Given the description of an element on the screen output the (x, y) to click on. 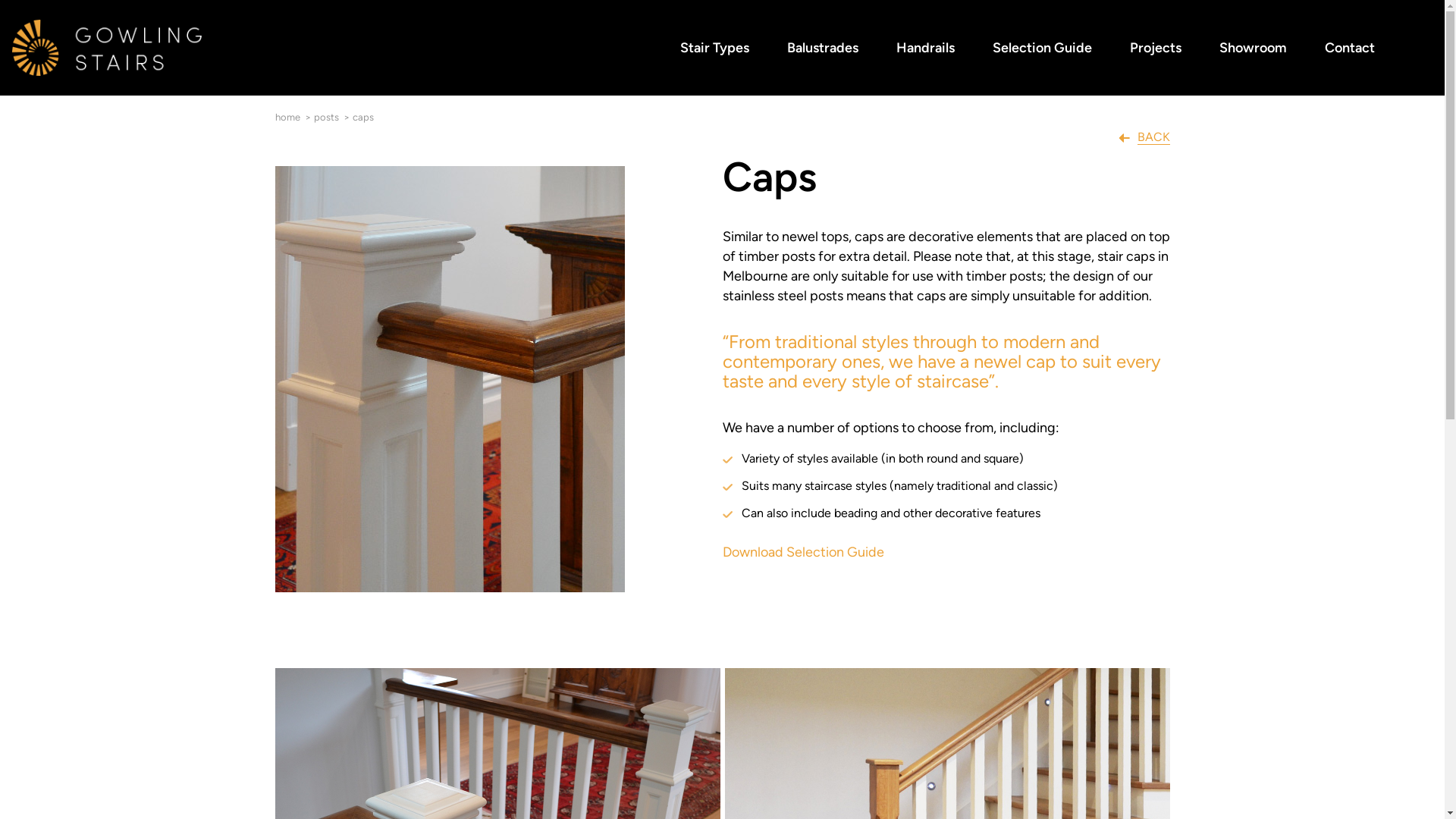
BACK Element type: text (1143, 136)
Projects Element type: text (1155, 48)
Contact Element type: text (1349, 48)
Showroom Element type: text (1252, 48)
Selection Guide Element type: text (1042, 48)
Handrails Element type: text (925, 48)
Download Selection Guide Element type: text (802, 551)
home Element type: text (286, 116)
posts Element type: text (325, 116)
Balustrades Element type: text (822, 48)
Stair Types Element type: text (714, 48)
